Given the description of an element on the screen output the (x, y) to click on. 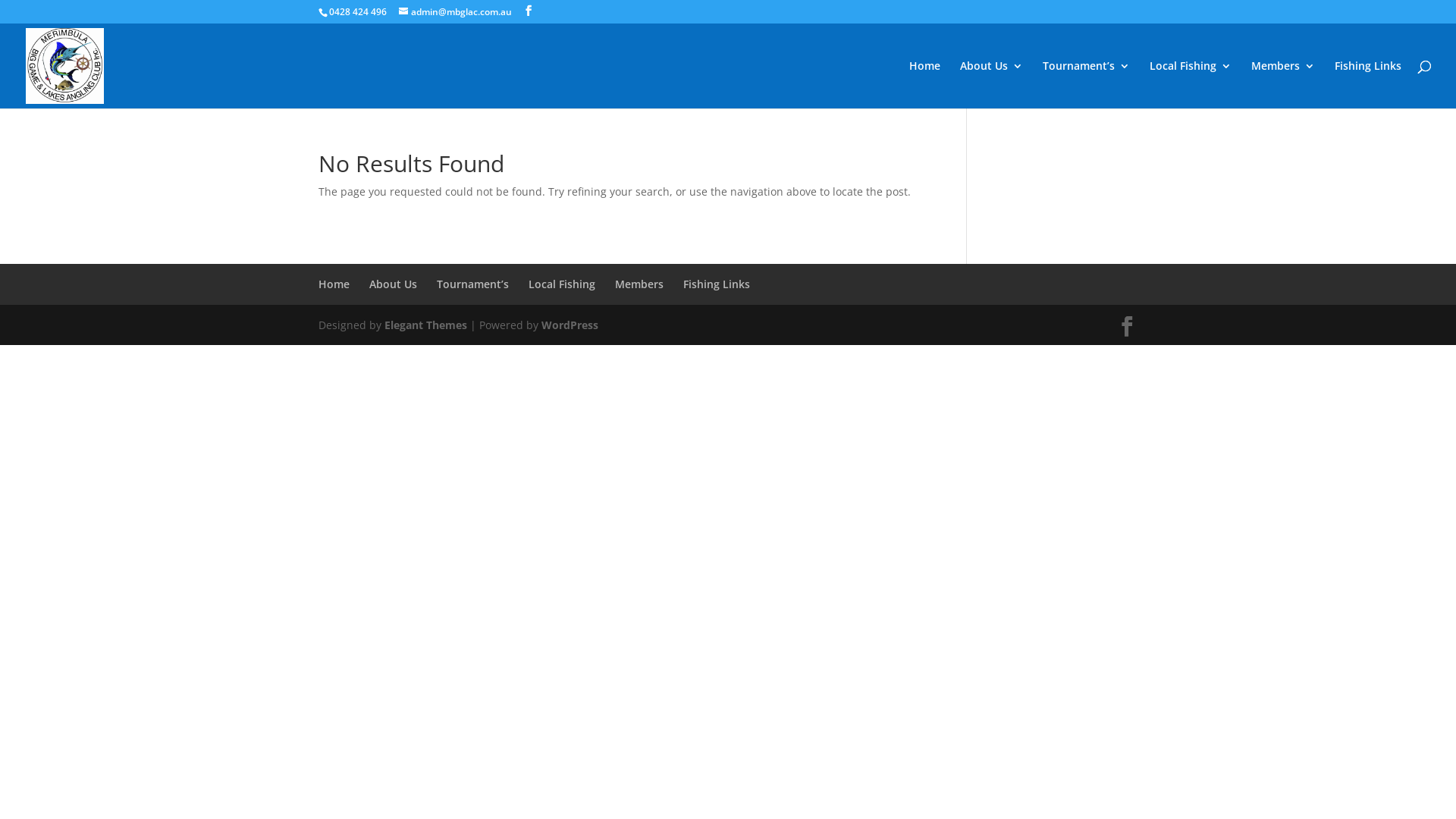
admin@mbglac.com.au Element type: text (454, 11)
Members Element type: text (1282, 84)
About Us Element type: text (393, 283)
Fishing Links Element type: text (1367, 84)
Elegant Themes Element type: text (425, 324)
WordPress Element type: text (569, 324)
About Us Element type: text (991, 84)
Members Element type: text (639, 283)
Local Fishing Element type: text (561, 283)
Fishing Links Element type: text (716, 283)
Local Fishing Element type: text (1190, 84)
Home Element type: text (333, 283)
Home Element type: text (924, 84)
